Given the description of an element on the screen output the (x, y) to click on. 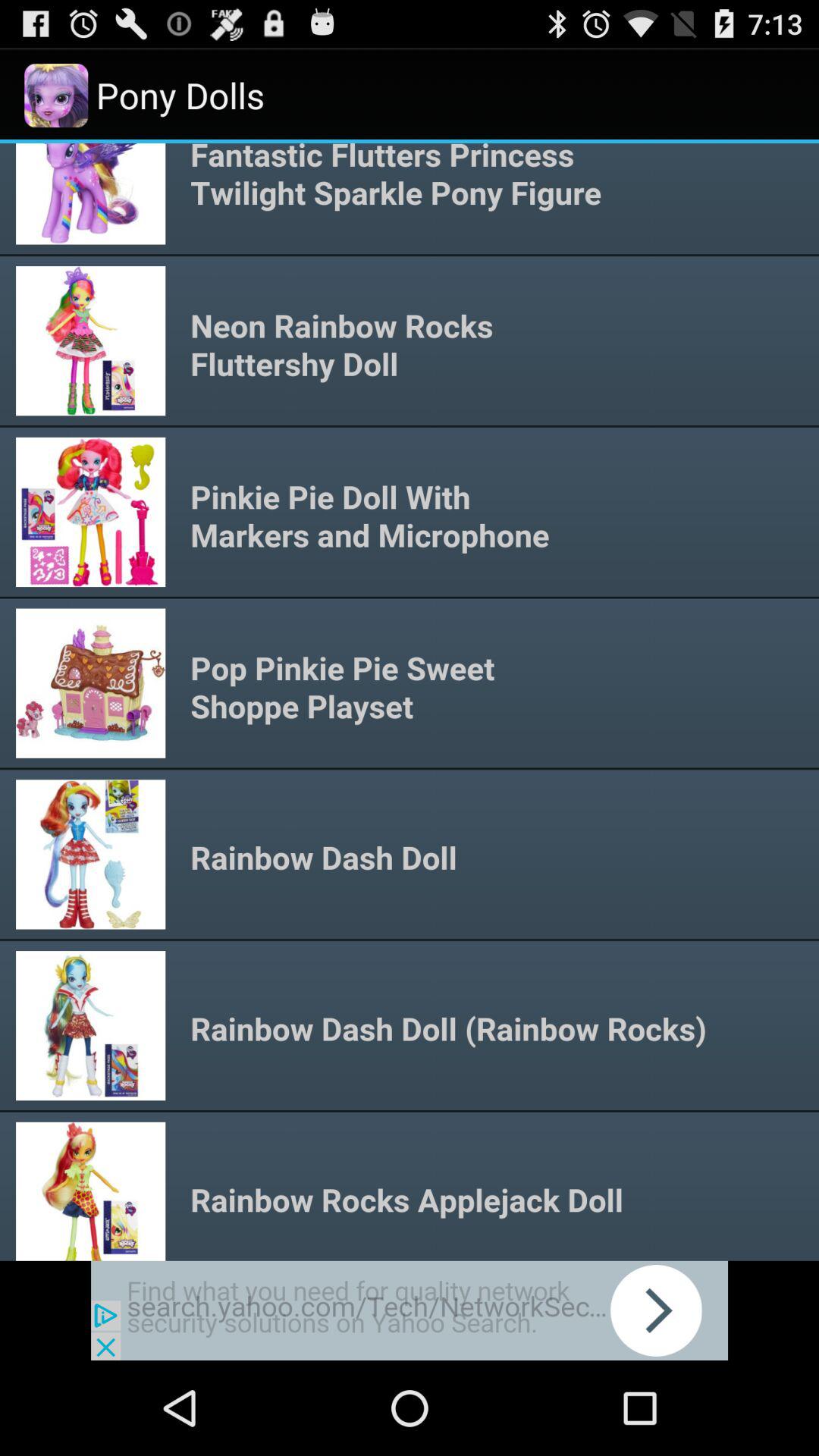
full page (409, 701)
